Given the description of an element on the screen output the (x, y) to click on. 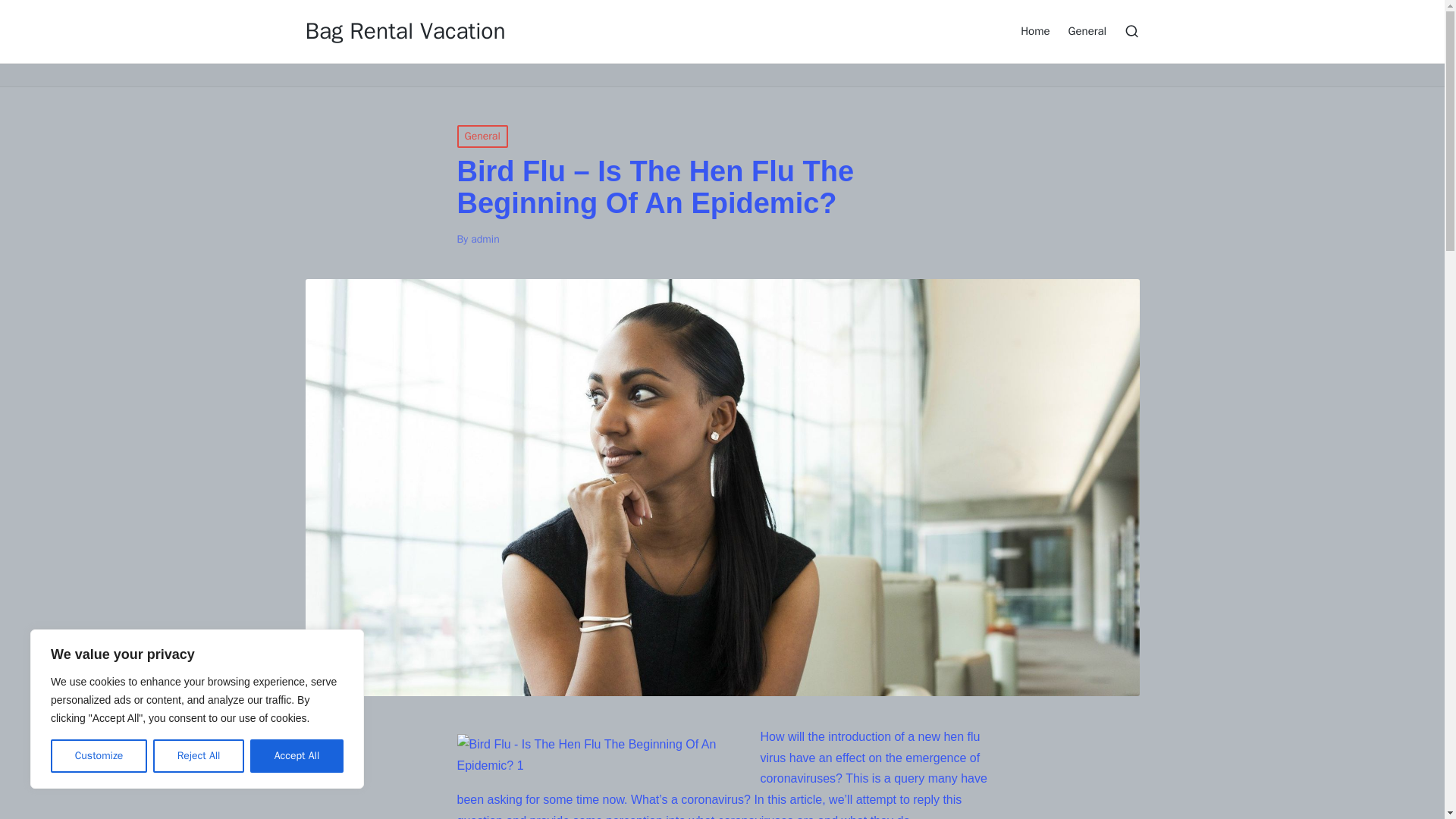
admin (484, 238)
General (481, 136)
Reject All (198, 756)
Home (1034, 30)
Bag Rental Vacation (404, 31)
Customize (98, 756)
View all posts by  (484, 238)
General (1087, 30)
Accept All (296, 756)
